Given the description of an element on the screen output the (x, y) to click on. 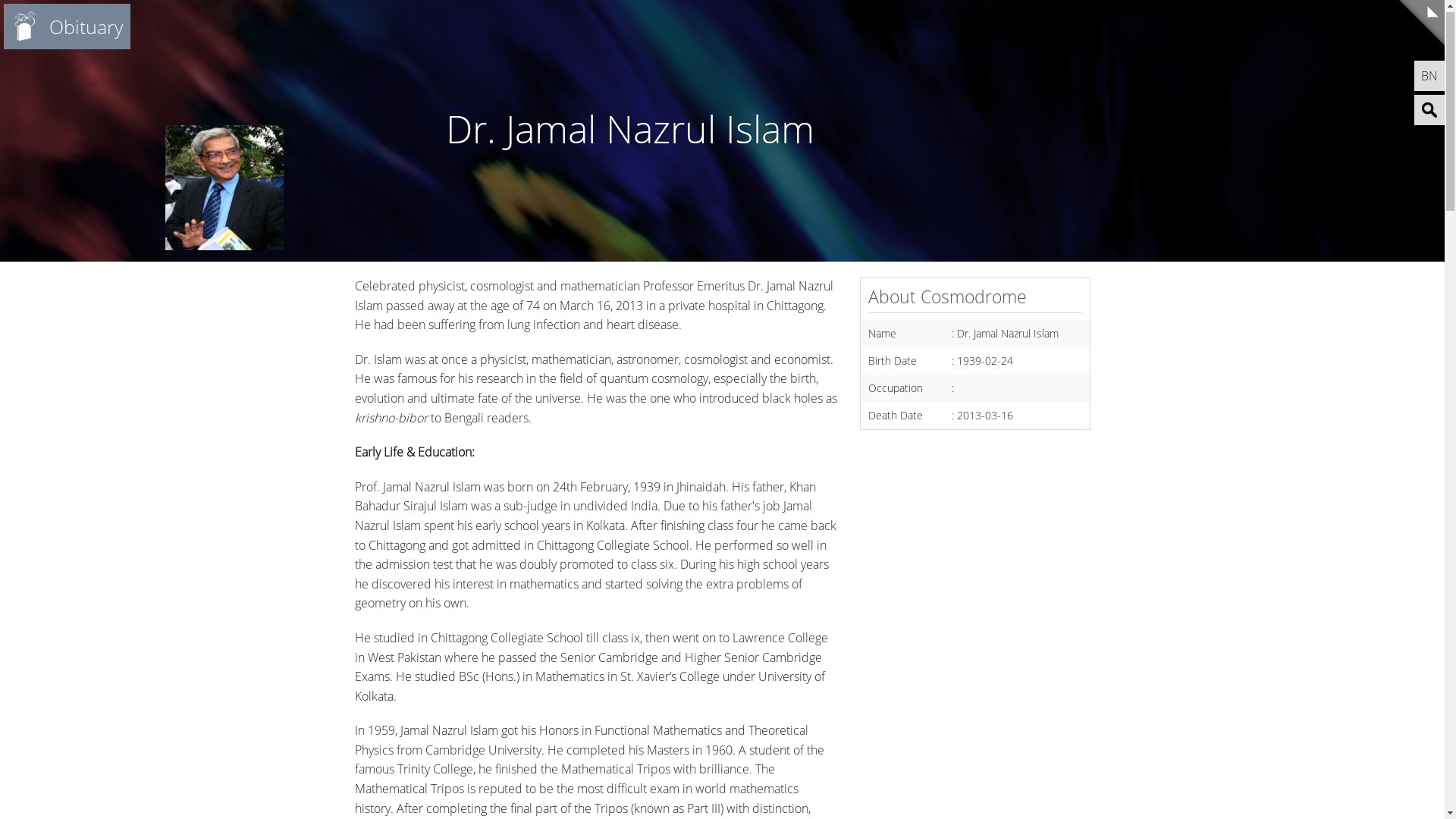
Search Here Element type: hover (1429, 113)
Obituary Element type: text (62, 30)
Menu Element type: hover (1421, 26)
